Given the description of an element on the screen output the (x, y) to click on. 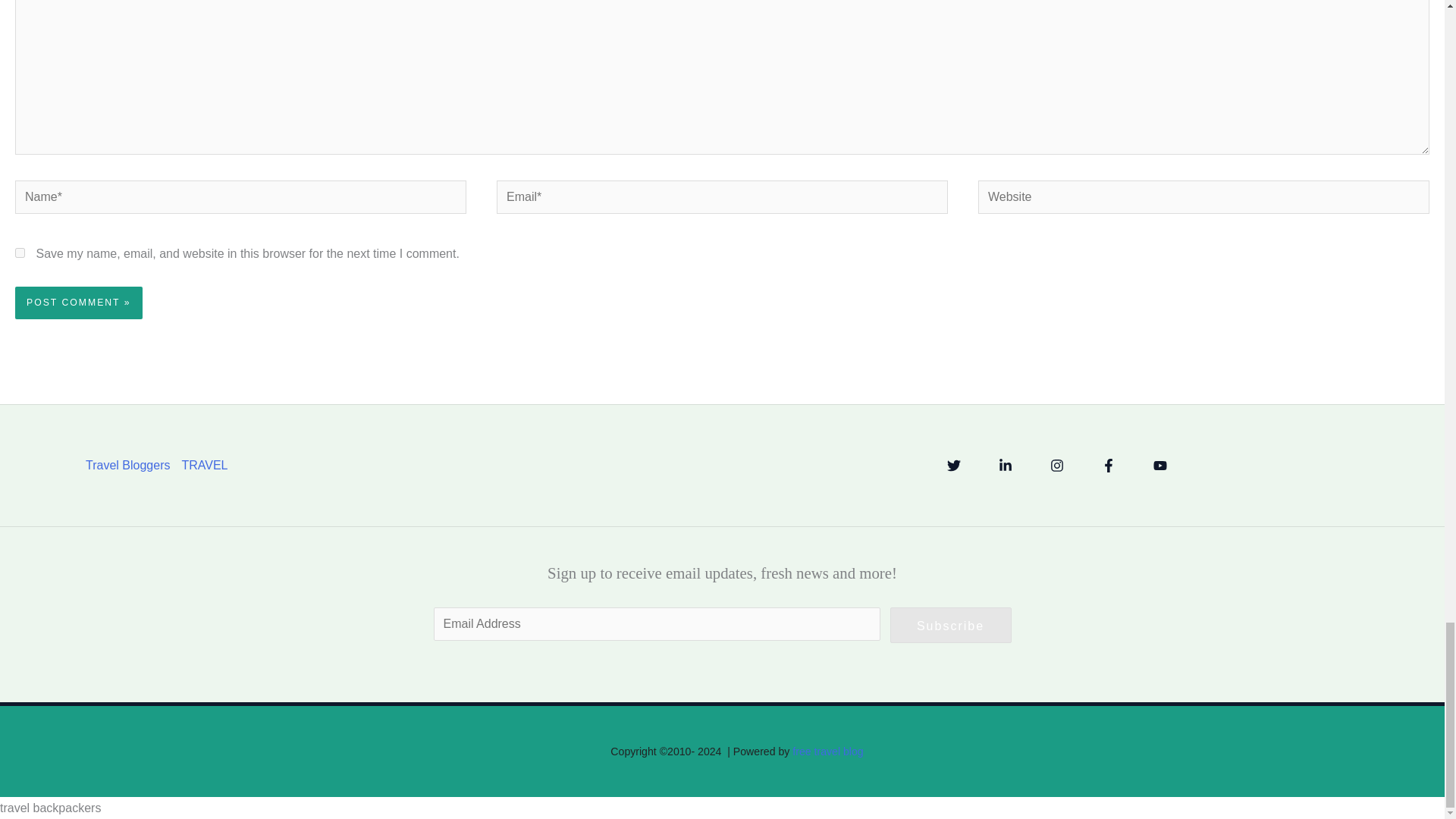
yes (19, 252)
